Given the description of an element on the screen output the (x, y) to click on. 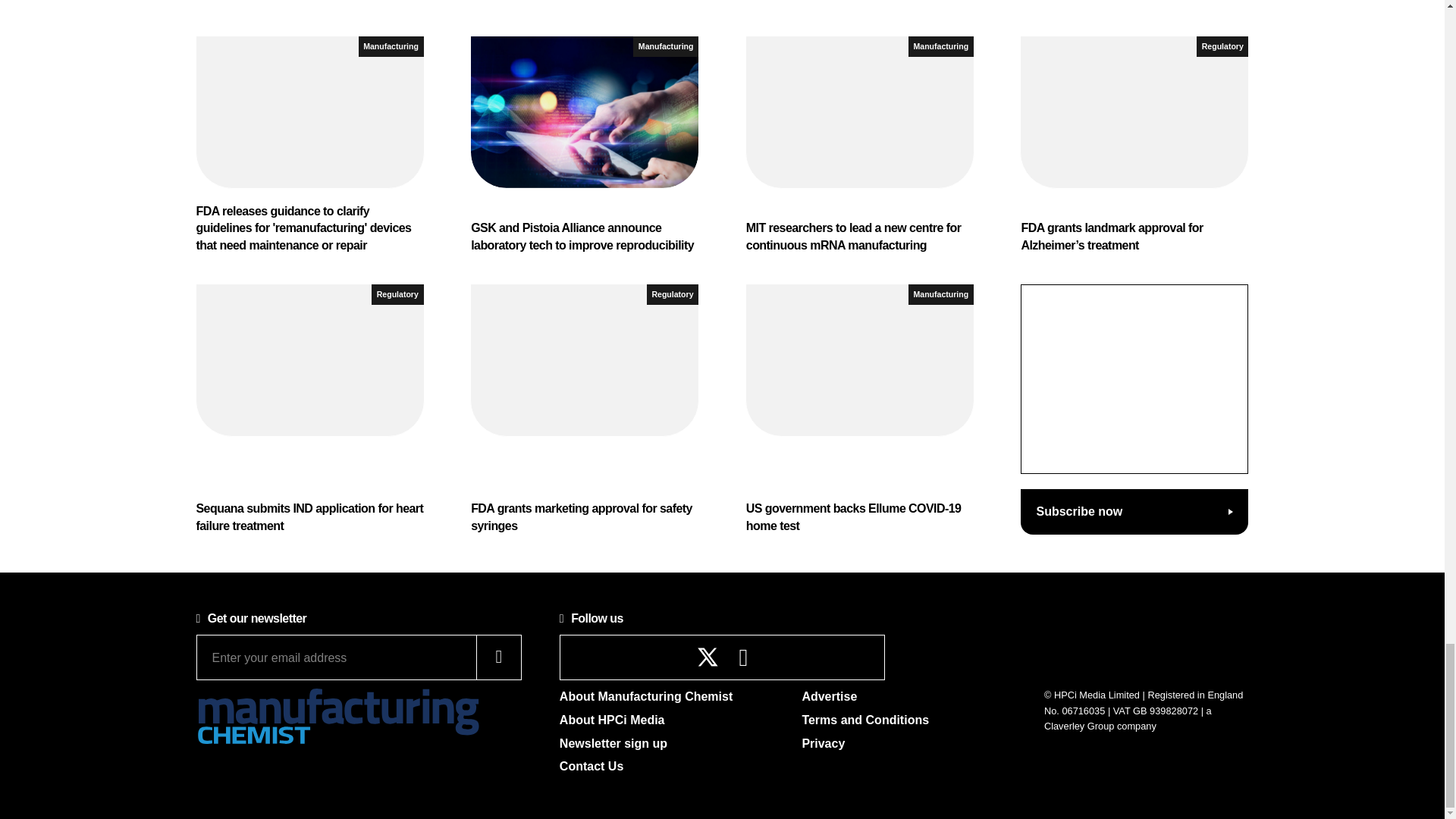
Manufacturing (390, 46)
Follow Manufacturing Chemist on X (708, 657)
